Given the description of an element on the screen output the (x, y) to click on. 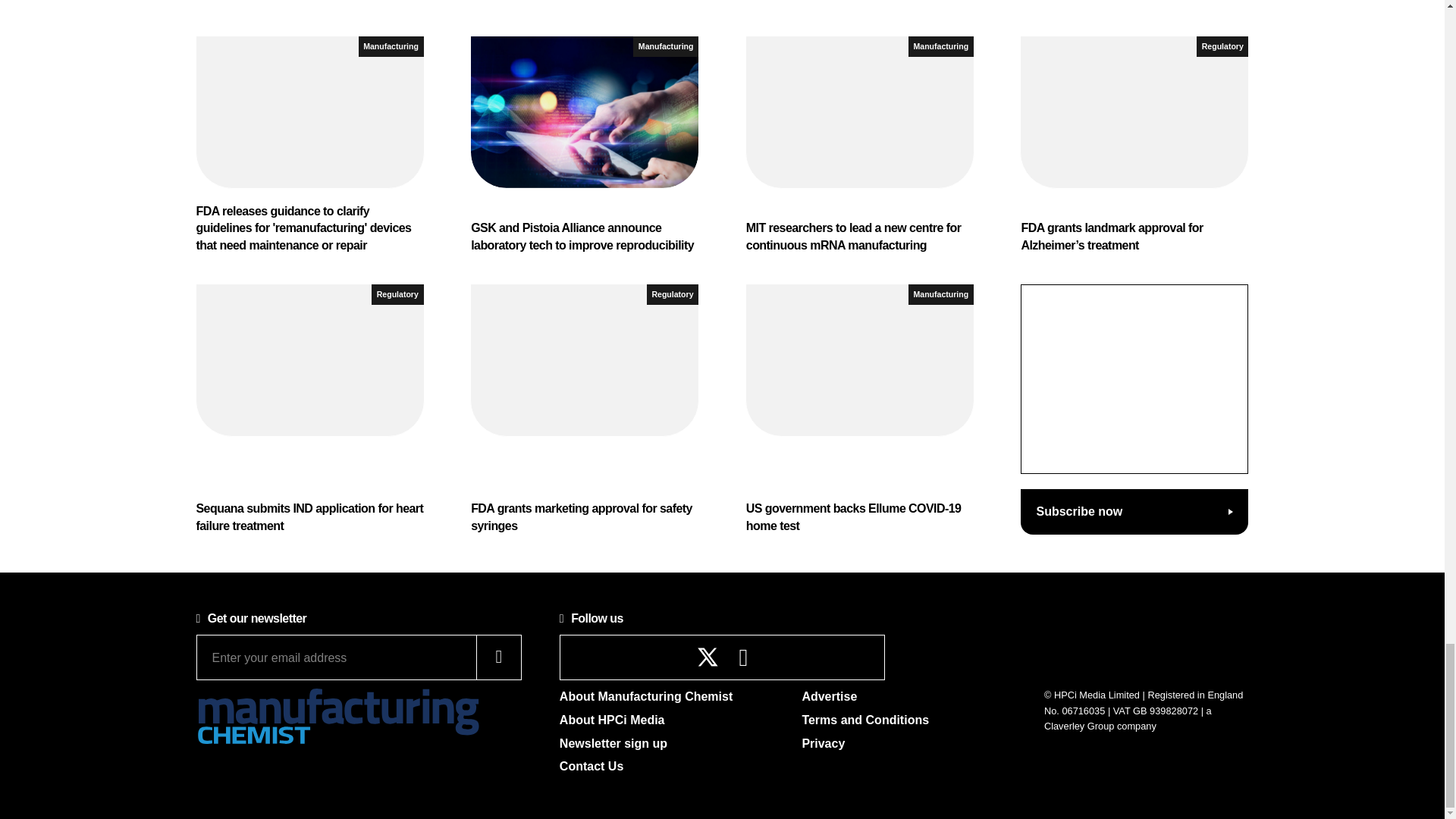
Manufacturing (390, 46)
Follow Manufacturing Chemist on X (708, 657)
